Given the description of an element on the screen output the (x, y) to click on. 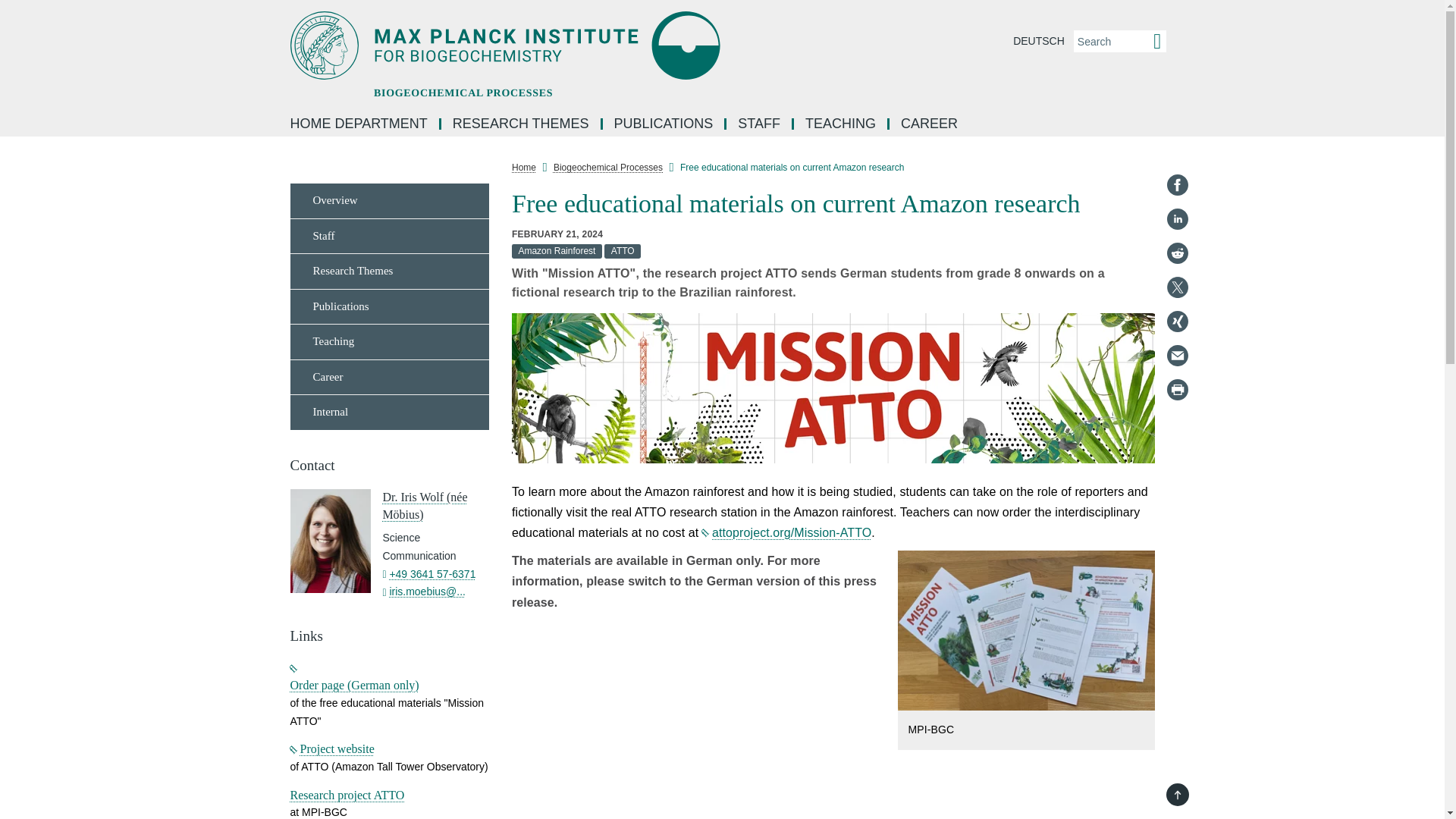
BIOGEOCHEMICAL PROCESSES (574, 45)
Home (523, 167)
Amazon Rainforest (558, 251)
LinkedIn (1177, 219)
DEUTSCH (1038, 41)
Facebook (1177, 184)
Research Themes (389, 271)
Reddit (1177, 252)
Biogeochemical Processes (607, 167)
Staff (389, 235)
